Given the description of an element on the screen output the (x, y) to click on. 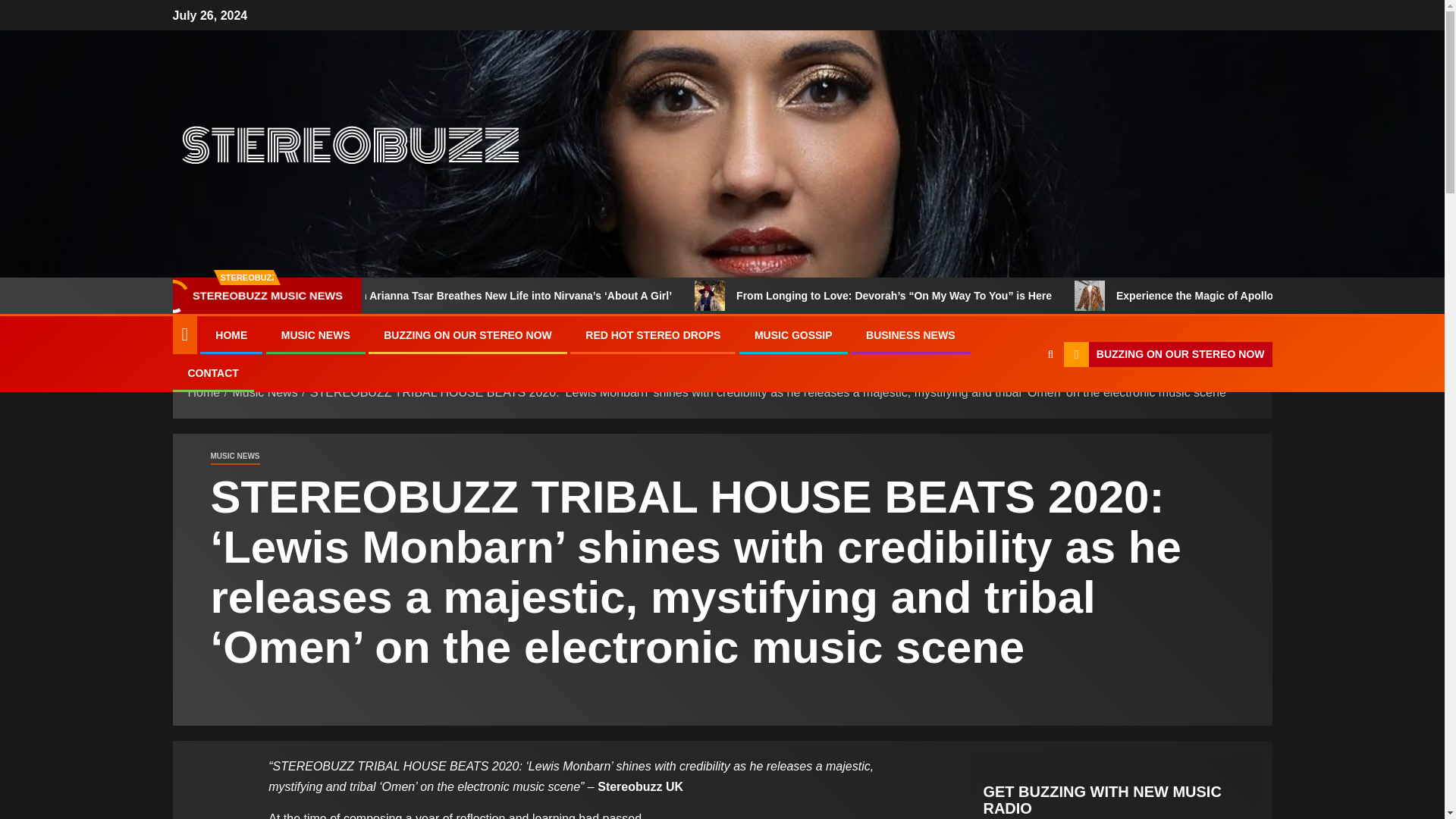
RED HOT STEREO DROPS (652, 335)
HOME (231, 335)
Home (204, 391)
BUZZING ON OUR STEREO NOW (1168, 354)
Music News (264, 391)
BUSINESS NEWS (910, 335)
MUSIC NEWS (235, 456)
MUSIC NEWS (315, 335)
BUZZING ON OUR STEREO NOW (467, 335)
MUSIC GOSSIP (793, 335)
Search (1020, 400)
CONTACT (212, 372)
